Given the description of an element on the screen output the (x, y) to click on. 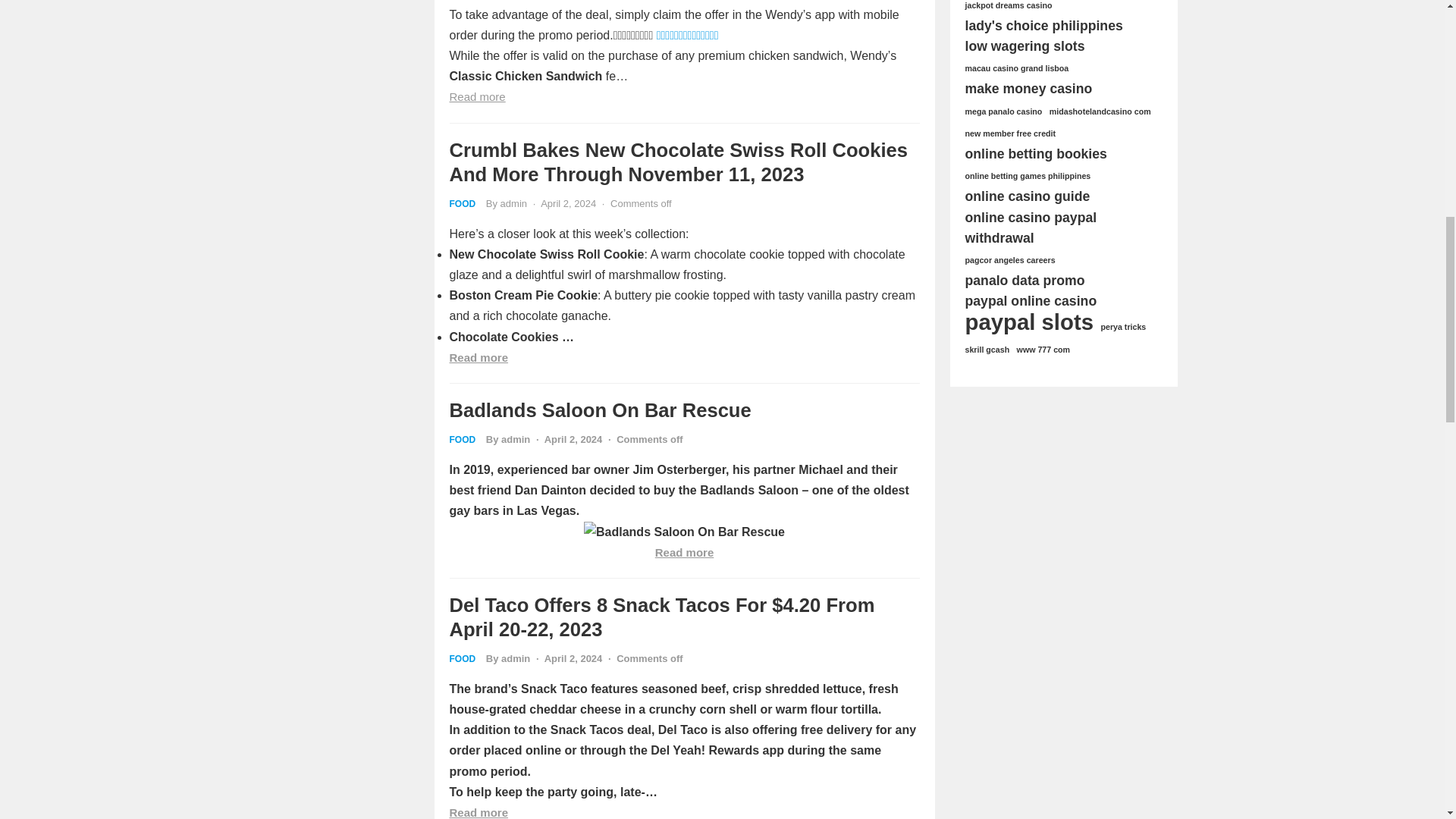
Badlands Saloon On Bar Rescue (683, 531)
Posts by admin (513, 203)
Posts by admin (514, 658)
Posts by admin (514, 439)
